Given the description of an element on the screen output the (x, y) to click on. 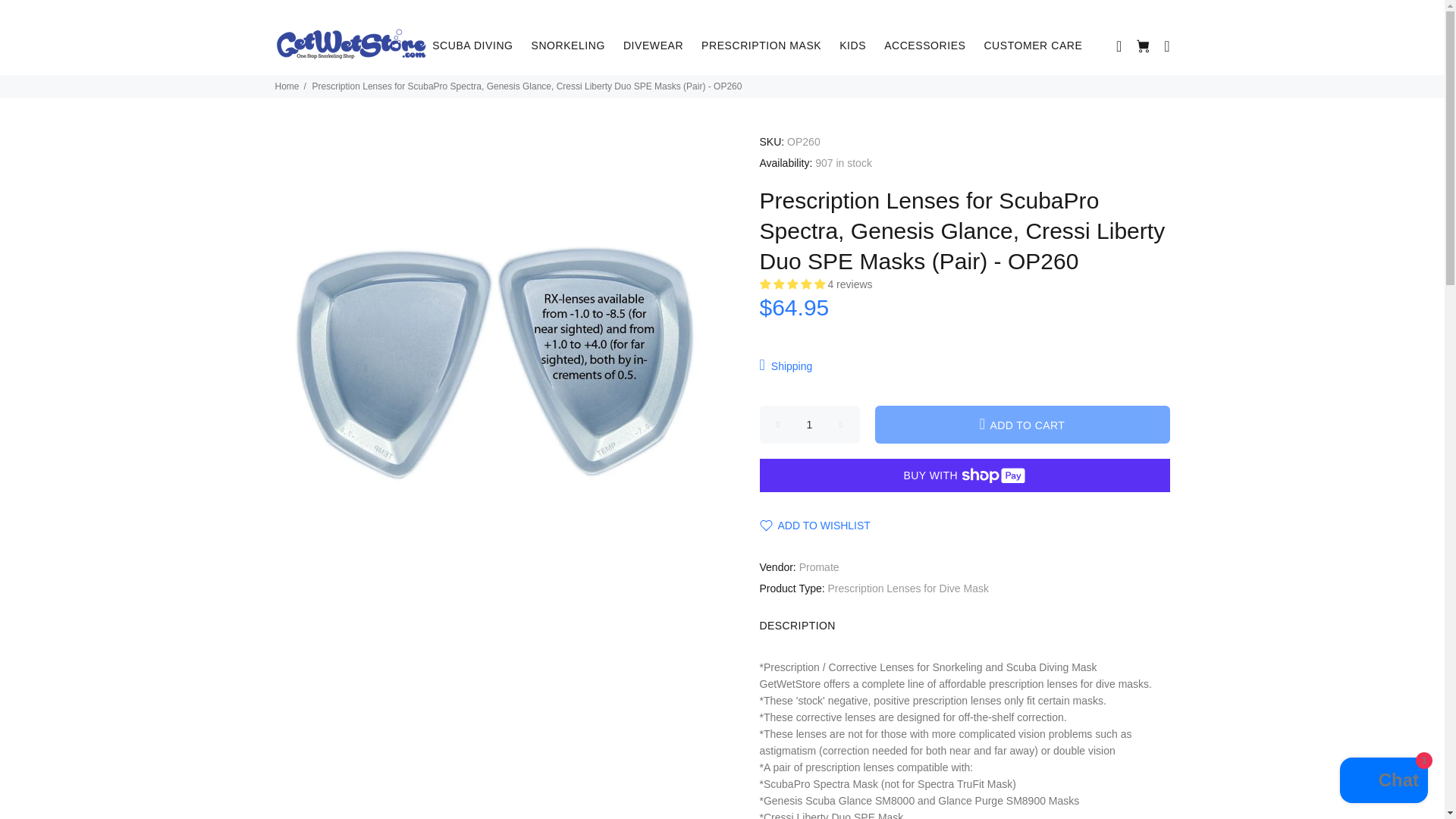
1 (810, 424)
Shopify online store chat (1383, 781)
